Given the description of an element on the screen output the (x, y) to click on. 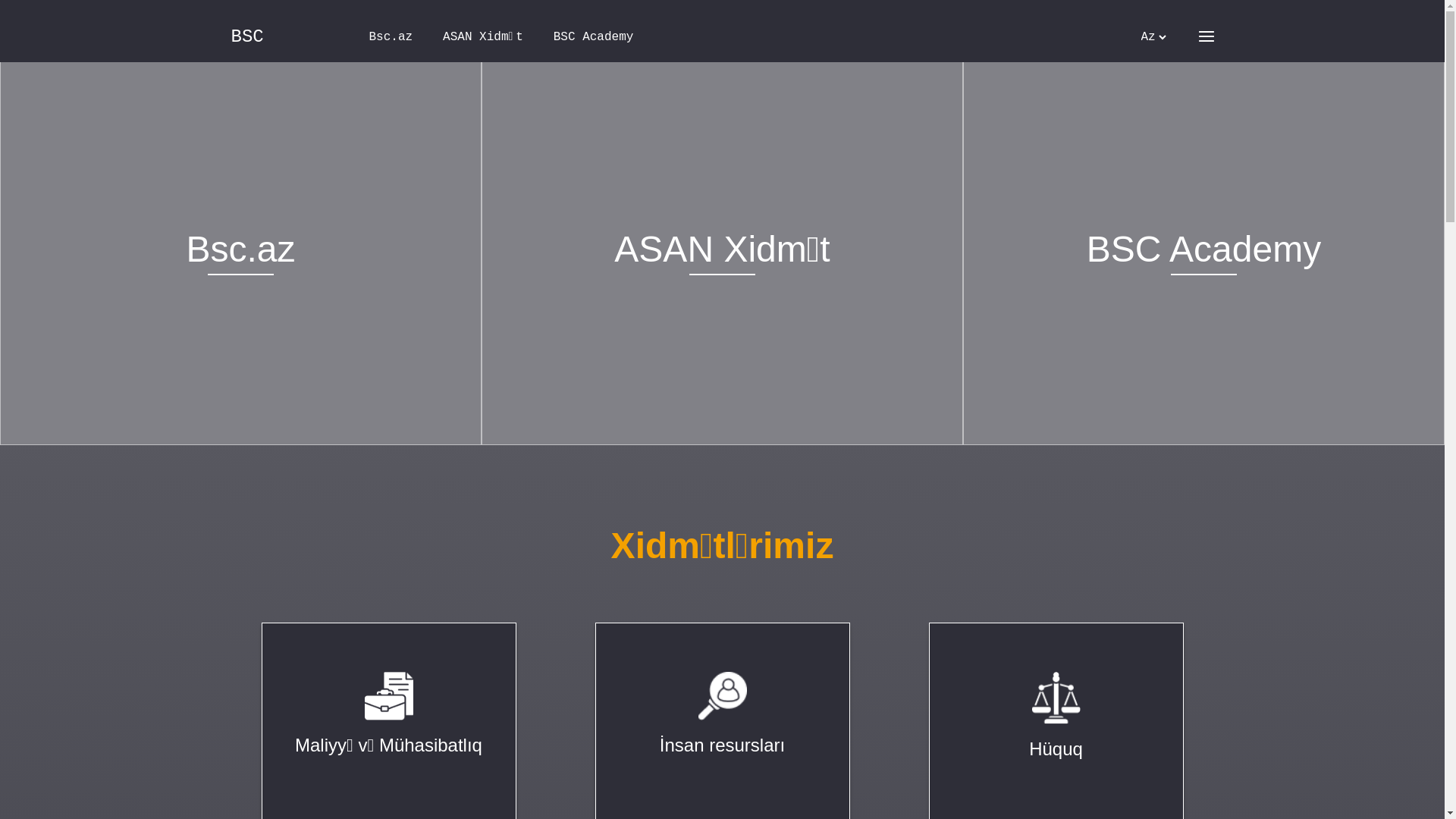
BSC Element type: text (246, 36)
BSC Academy Element type: text (1203, 222)
Bsc.az Element type: text (390, 36)
BSC Academy Element type: text (593, 36)
Bsc.az Element type: text (240, 222)
